Given the description of an element on the screen output the (x, y) to click on. 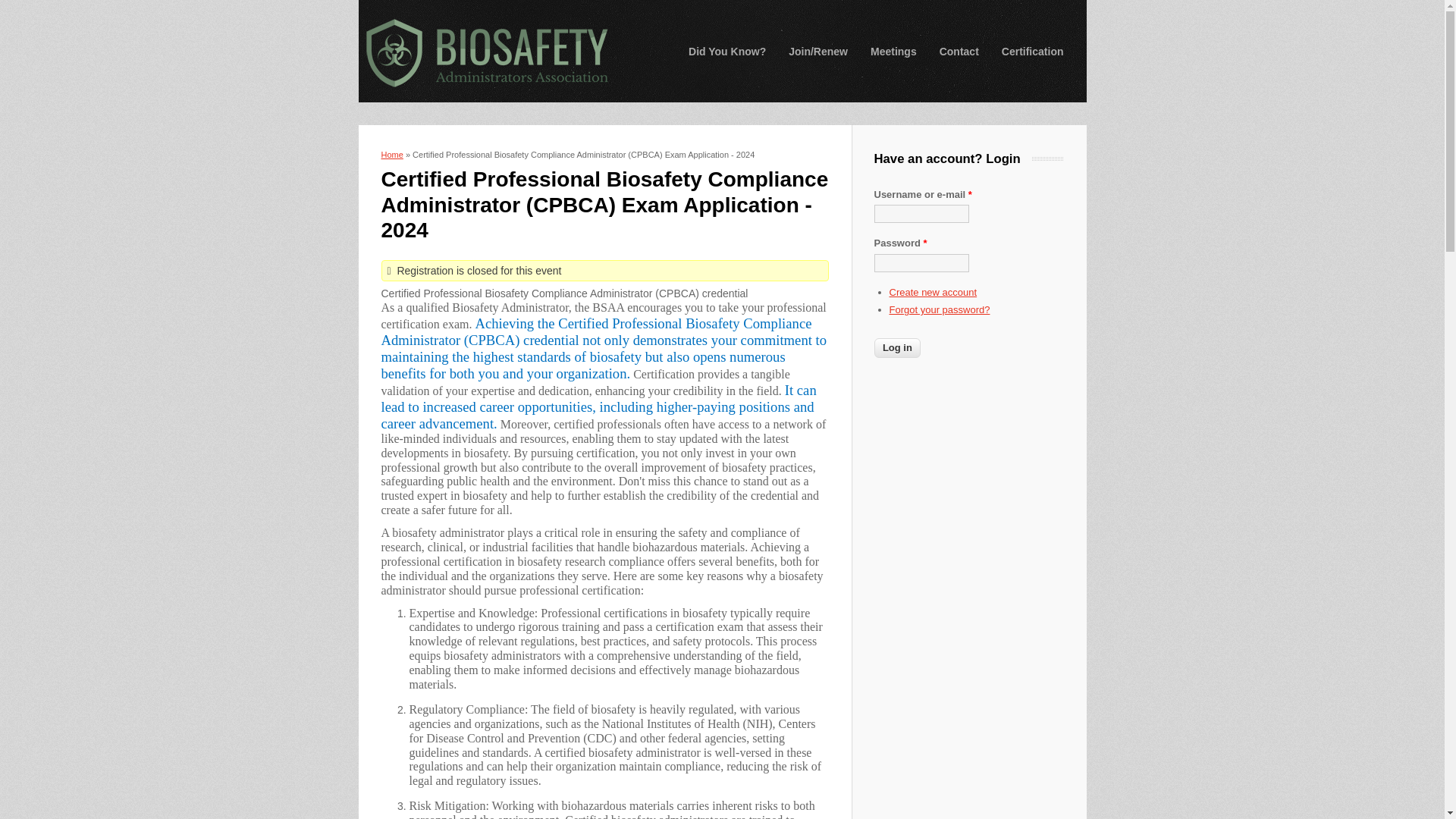
Contact (959, 51)
Create a new user account. (932, 292)
Forgot your password? (939, 309)
Create new account (932, 292)
Home (486, 52)
Certification (1032, 51)
Log in (896, 347)
Request new password via e-mail. (939, 309)
Home (391, 153)
Log in (896, 347)
